Given the description of an element on the screen output the (x, y) to click on. 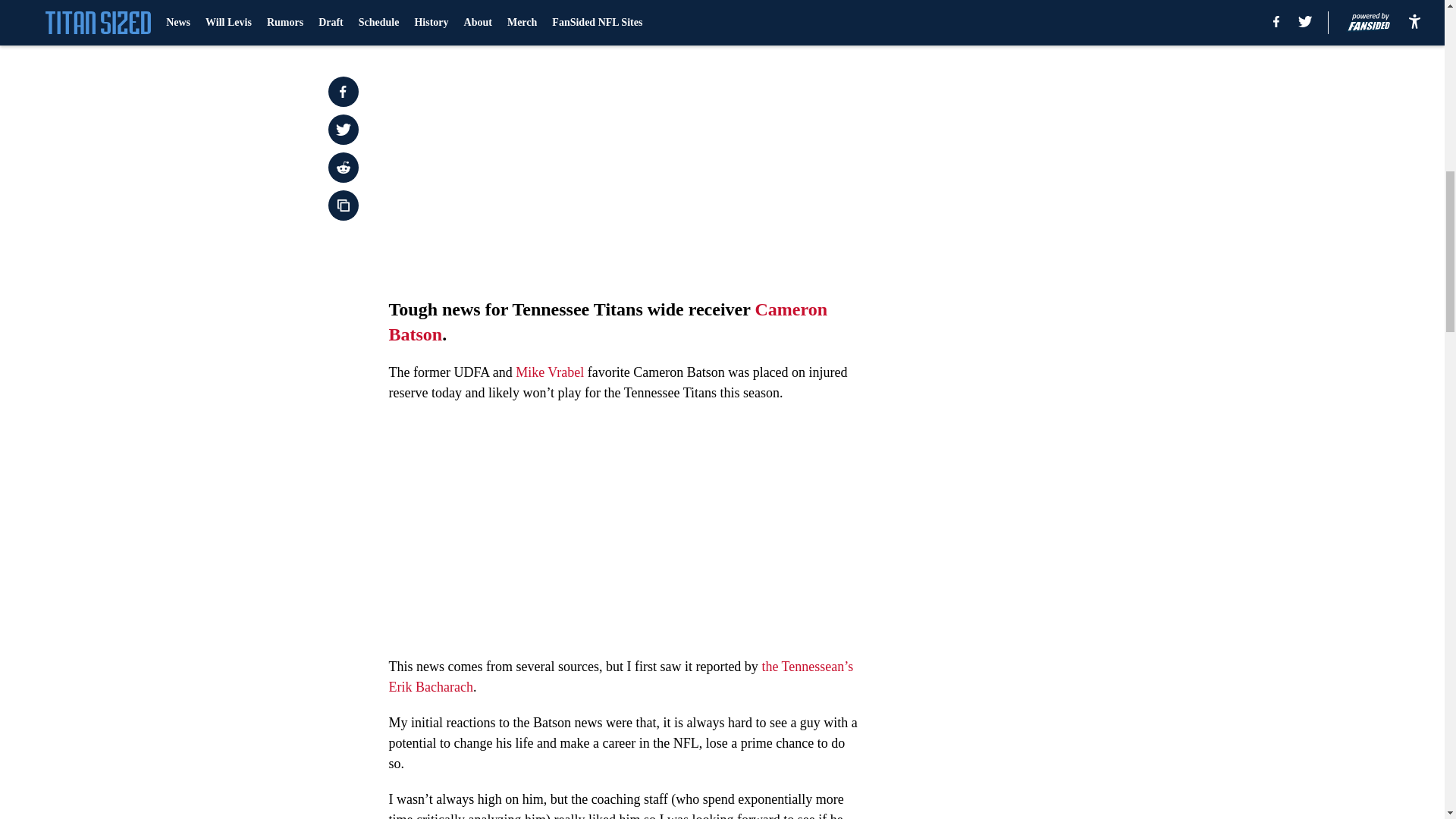
3rd party ad content (1047, 113)
Mike Vrabel (549, 372)
Cameron Batson (607, 321)
